Given the description of an element on the screen output the (x, y) to click on. 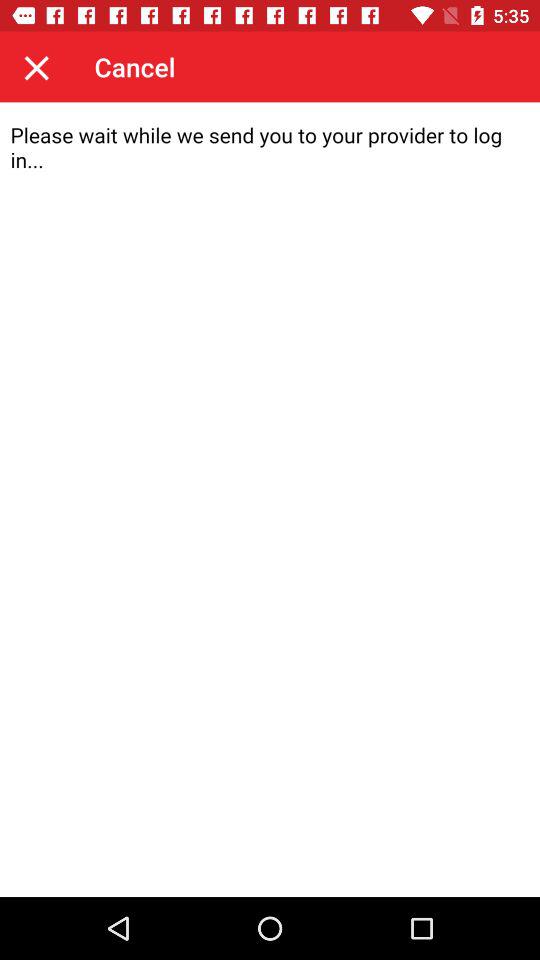
screen page (270, 499)
